Given the description of an element on the screen output the (x, y) to click on. 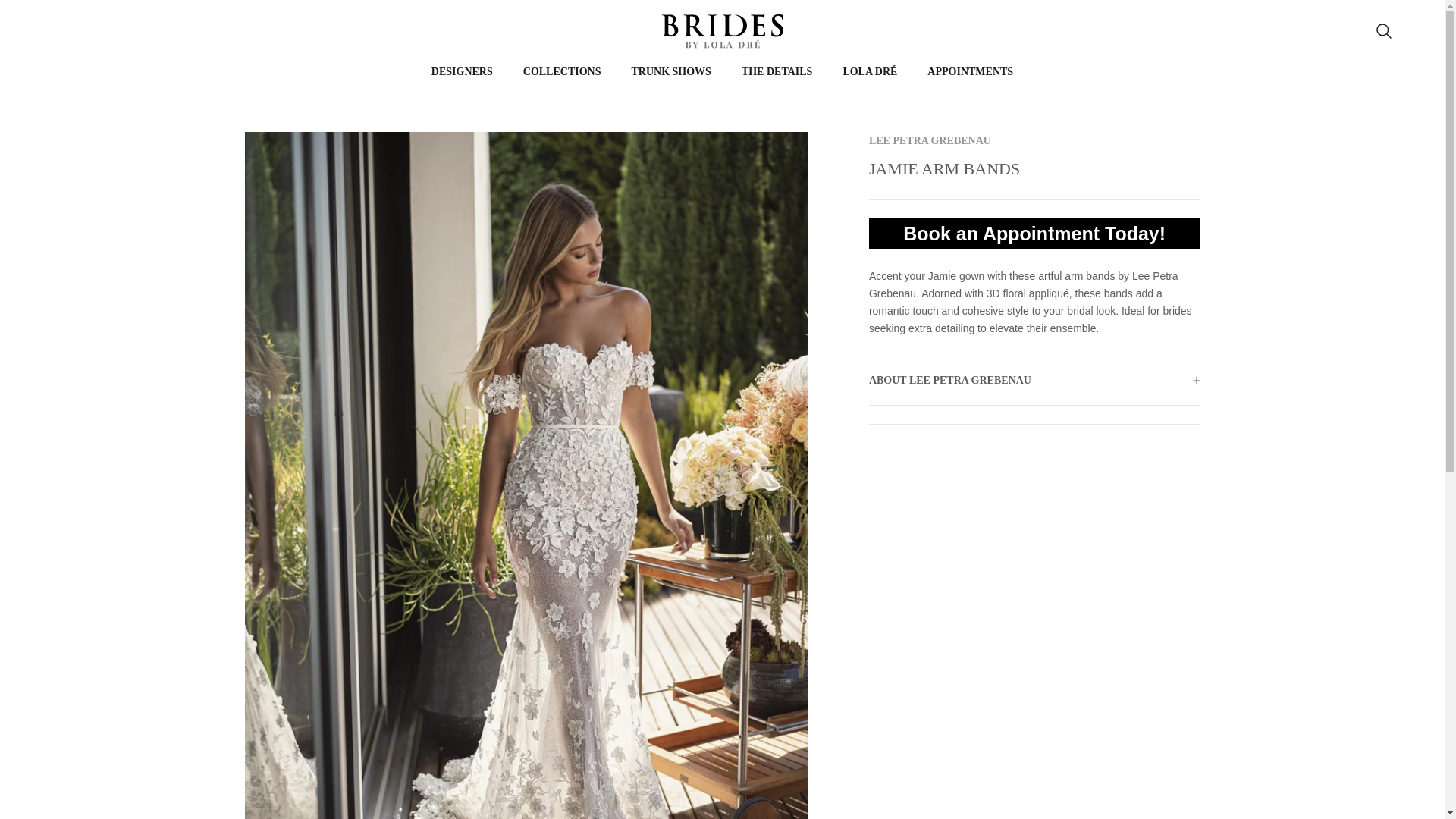
TRUNK SHOWS (670, 72)
Brides by Lola Dre (722, 31)
